Given the description of an element on the screen output the (x, y) to click on. 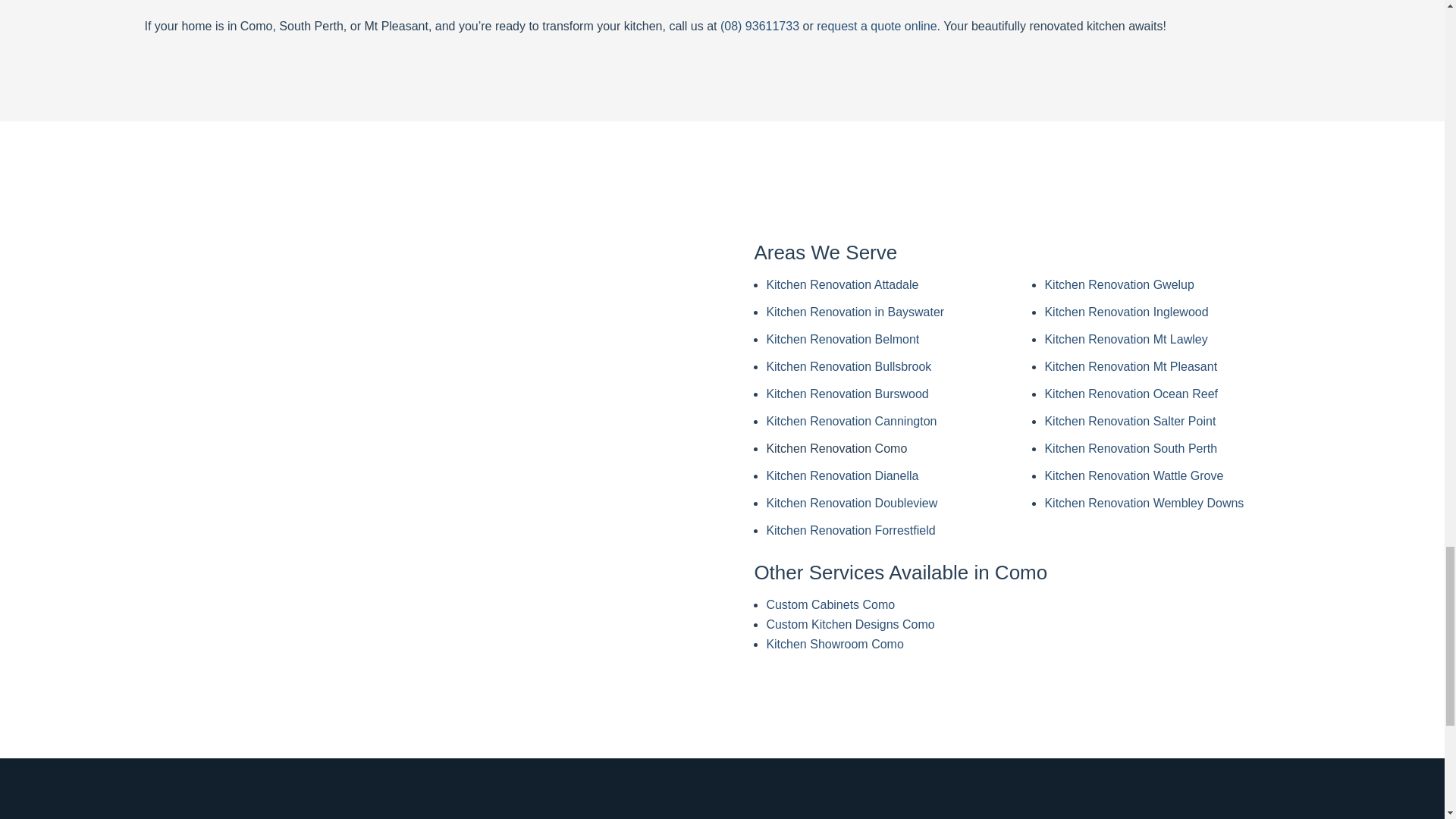
Kitchen Renovation Dianella (841, 475)
request a quote online (876, 25)
Kitchen Renovation Attadale (841, 284)
Kitchen Renovation Bullsbrook (848, 366)
Kitchen Renovation Burswood (846, 393)
Kitchen Renovation Belmont (841, 338)
Kitchen Renovation in Bayswater (854, 311)
Kitchen Renovation Cannington (850, 420)
